Given the description of an element on the screen output the (x, y) to click on. 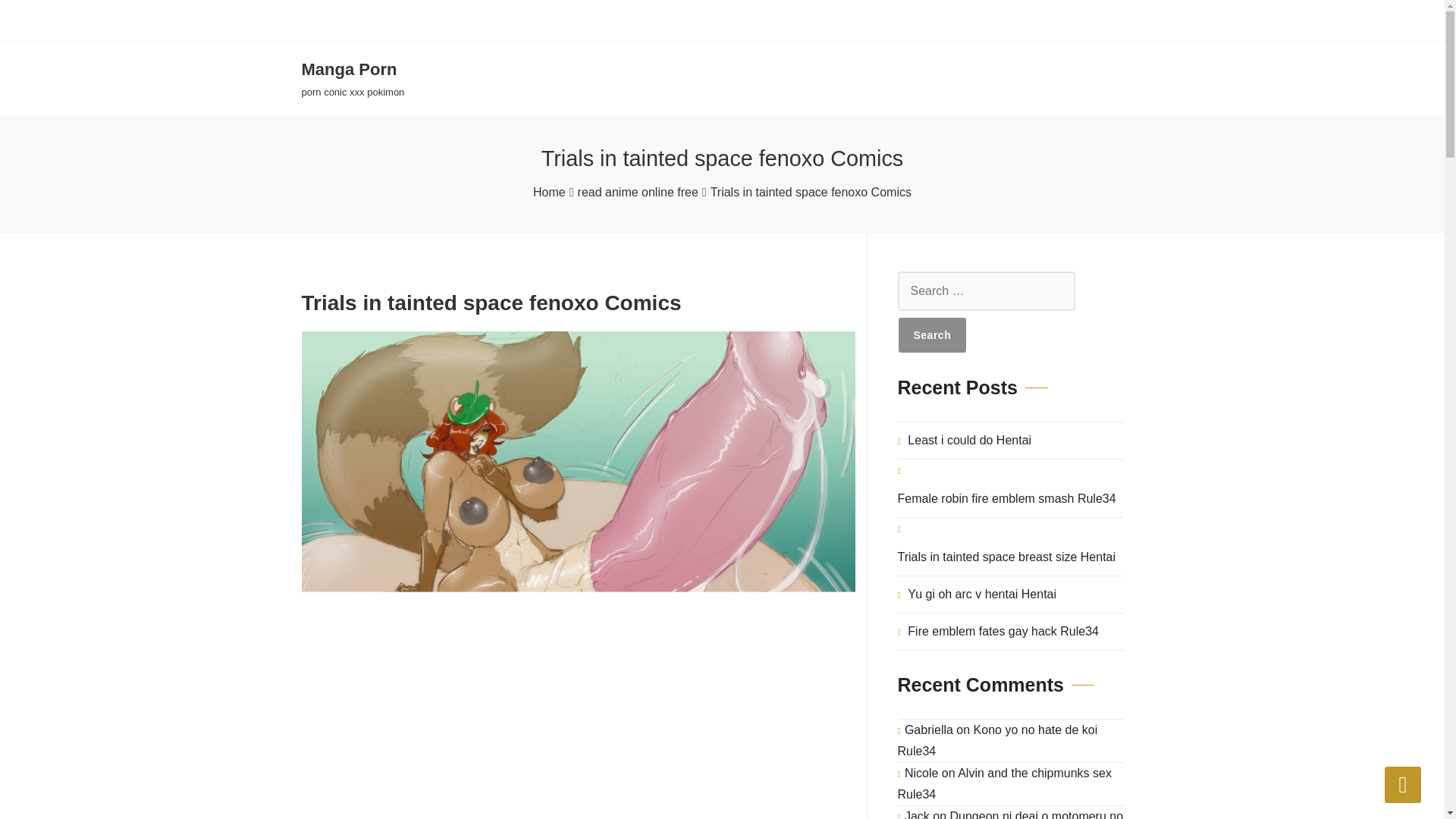
Least i could do Hentai (968, 440)
Home (549, 192)
Kono yo no hate de koi Rule34 (352, 78)
Trials in tainted space breast size Hentai (997, 740)
Back To Top (1007, 556)
Alvin and the chipmunks sex Rule34 (1403, 784)
Search (1005, 783)
Female robin fire emblem smash Rule34 (933, 334)
